Given the description of an element on the screen output the (x, y) to click on. 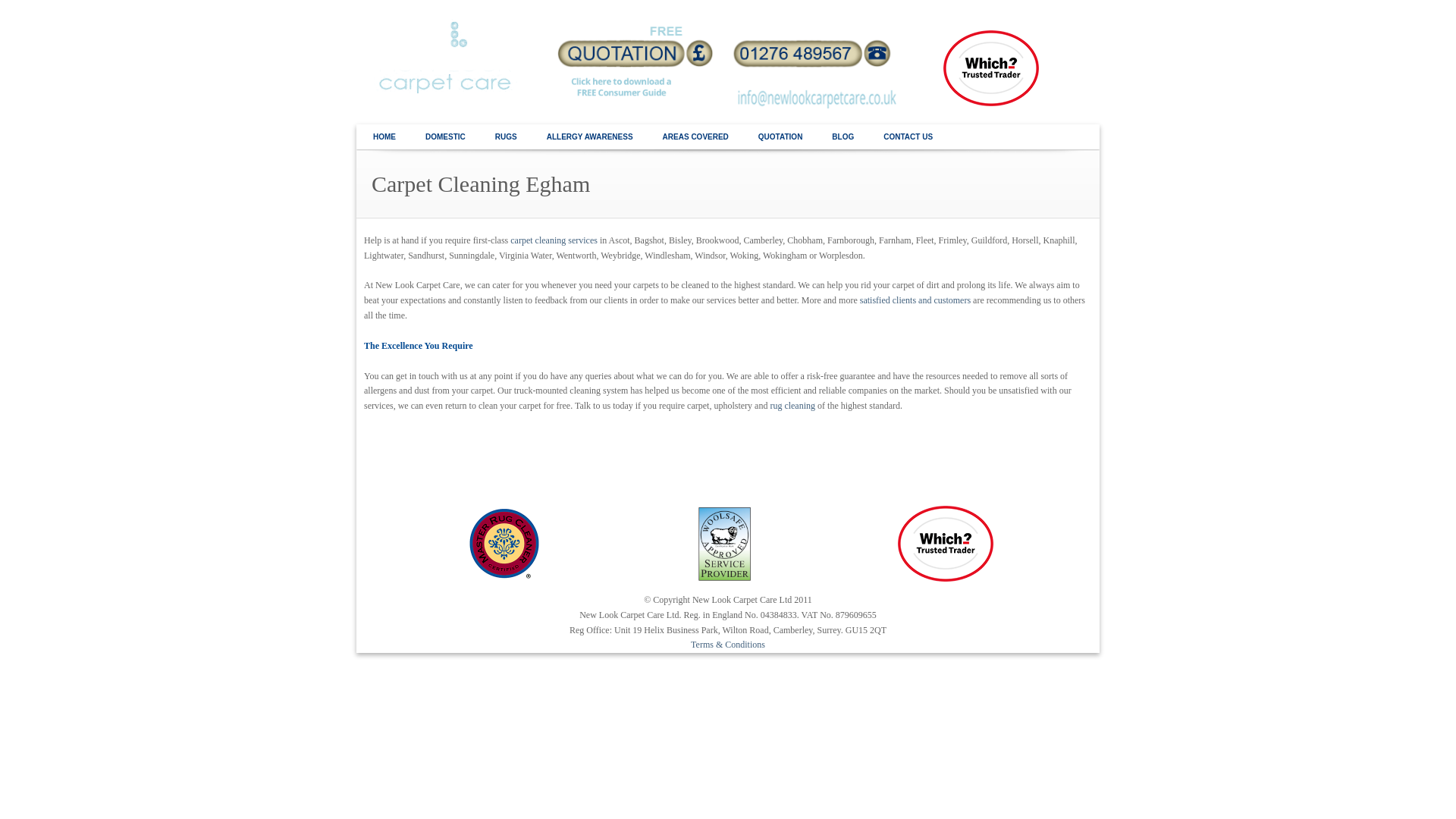
AREAS COVERED (695, 137)
QUOTATION (780, 137)
CONTACT US (907, 137)
BLOG (842, 137)
RUGS (505, 137)
carpet cleaning services (553, 240)
ALLERGY AWARENESS (590, 137)
rug cleaning (792, 405)
DOMESTIC (445, 137)
satisfied clients and customers (915, 299)
HOME (384, 137)
